Given the description of an element on the screen output the (x, y) to click on. 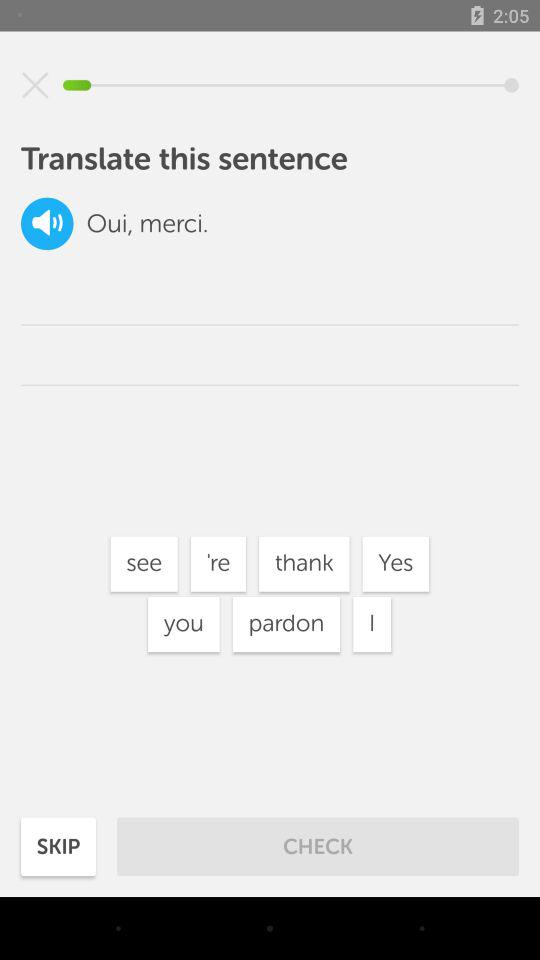
select the icon below the thank item (372, 624)
